Given the description of an element on the screen output the (x, y) to click on. 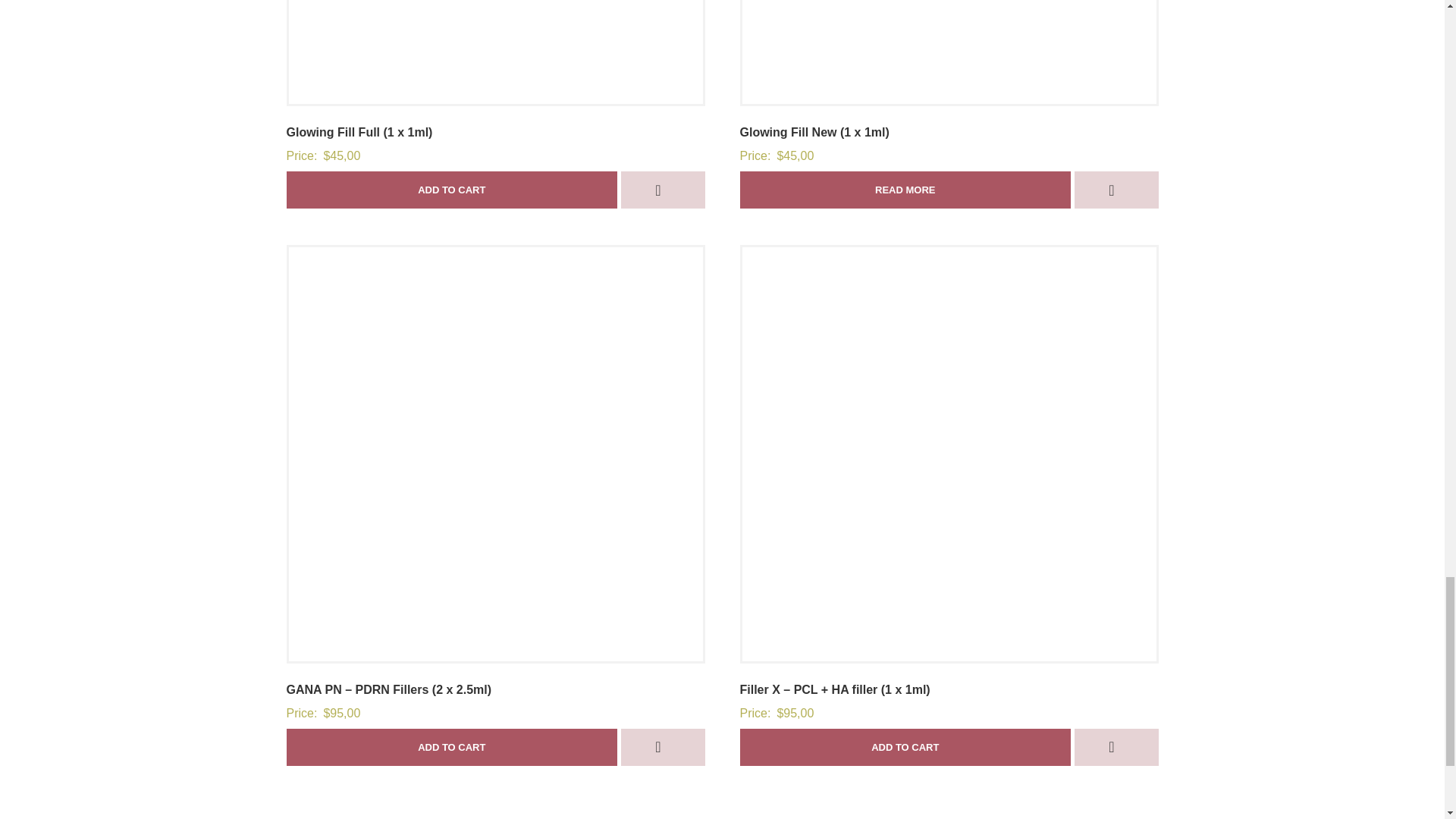
ADD TO CART (905, 746)
ADD TO CART (451, 746)
ADD TO CART (451, 189)
READ MORE (905, 189)
